Given the description of an element on the screen output the (x, y) to click on. 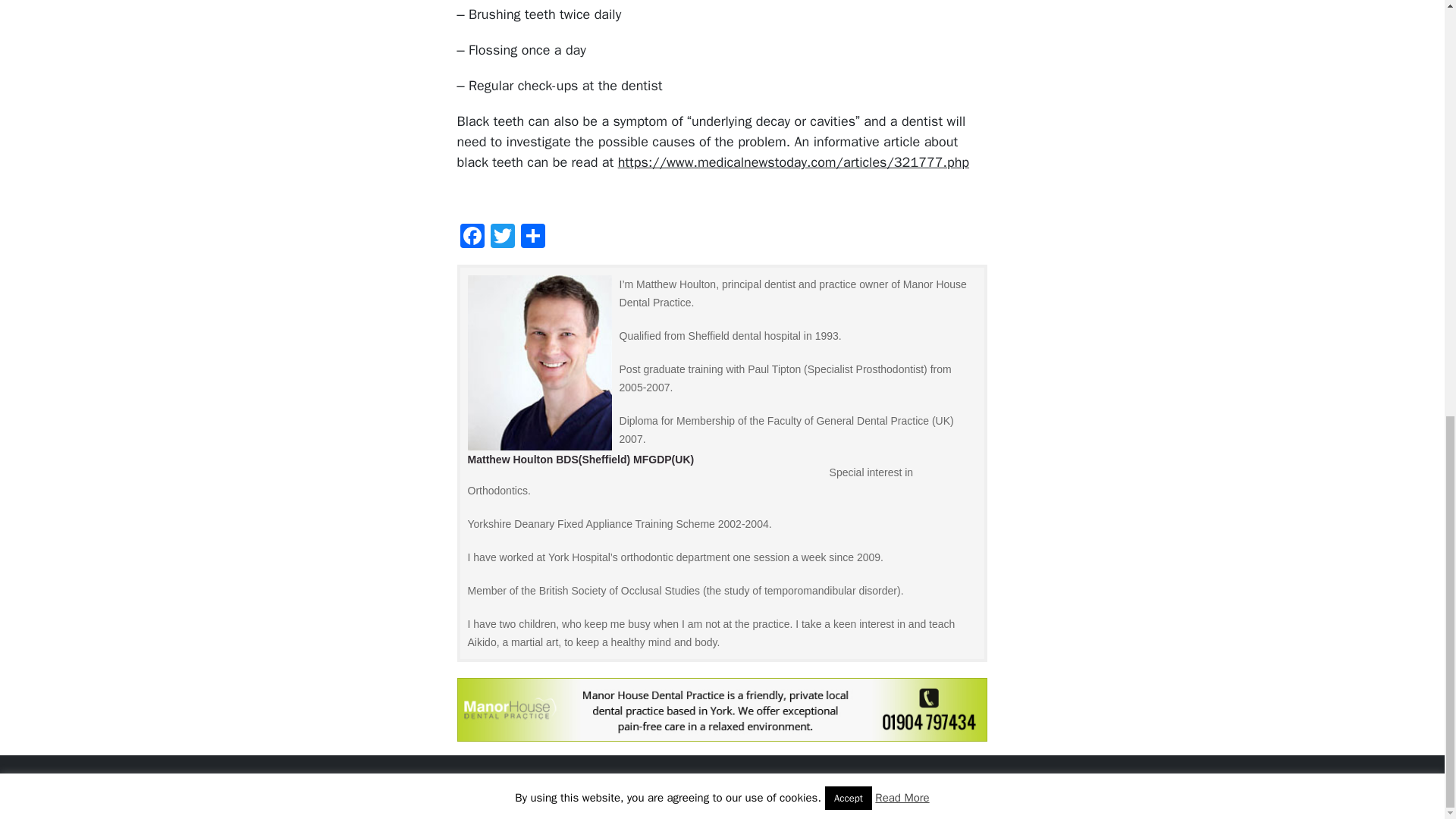
Facebook (472, 237)
Twitter (502, 237)
Facebook (472, 237)
Twitter (502, 237)
